Given the description of an element on the screen output the (x, y) to click on. 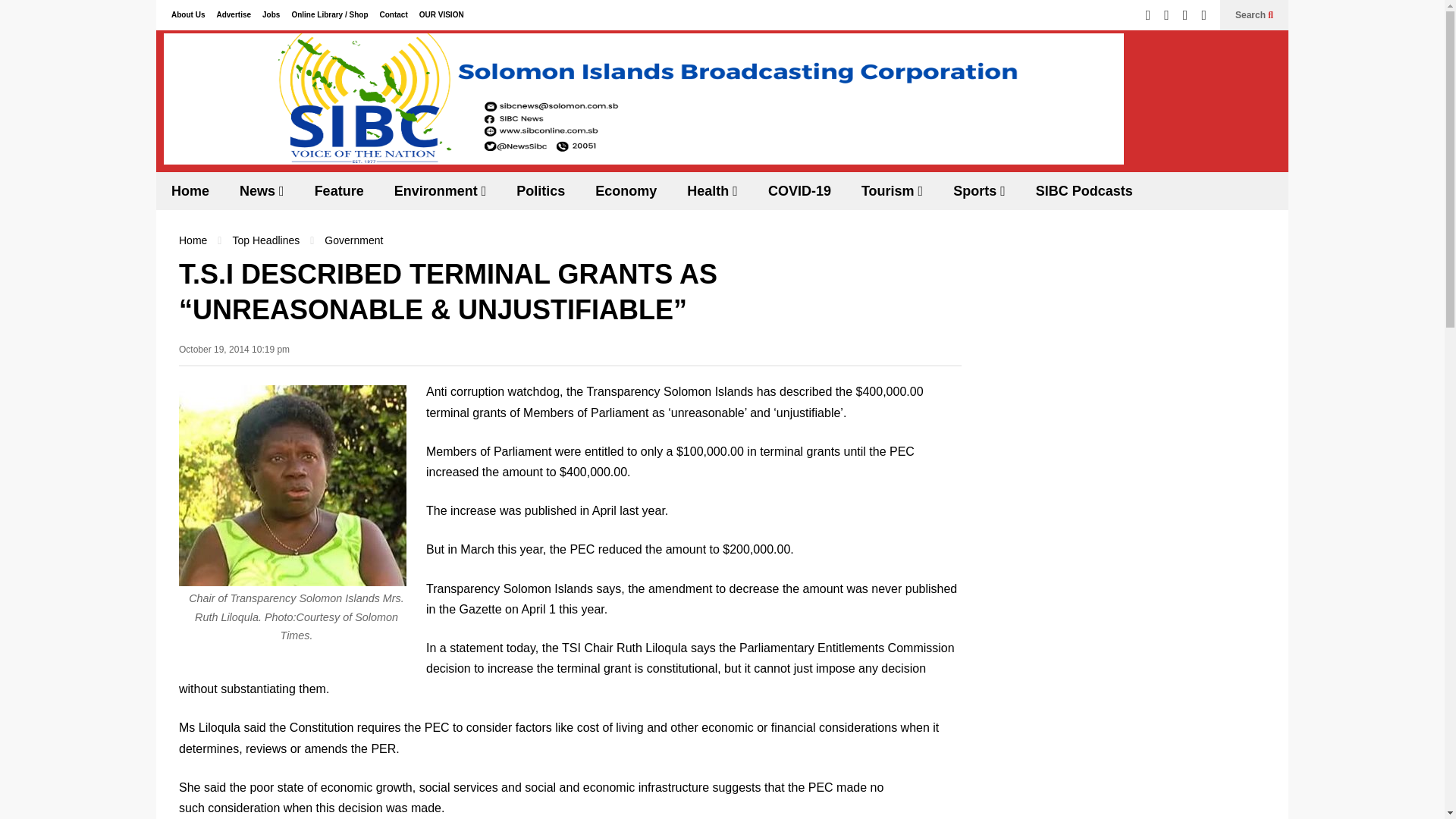
Contact (392, 14)
Politics (539, 190)
Search (1253, 15)
Sports (978, 190)
Jobs (270, 14)
COVID-19 (798, 190)
Health (711, 190)
OUR VISION (441, 14)
About Us (188, 14)
Economy (625, 190)
